Given the description of an element on the screen output the (x, y) to click on. 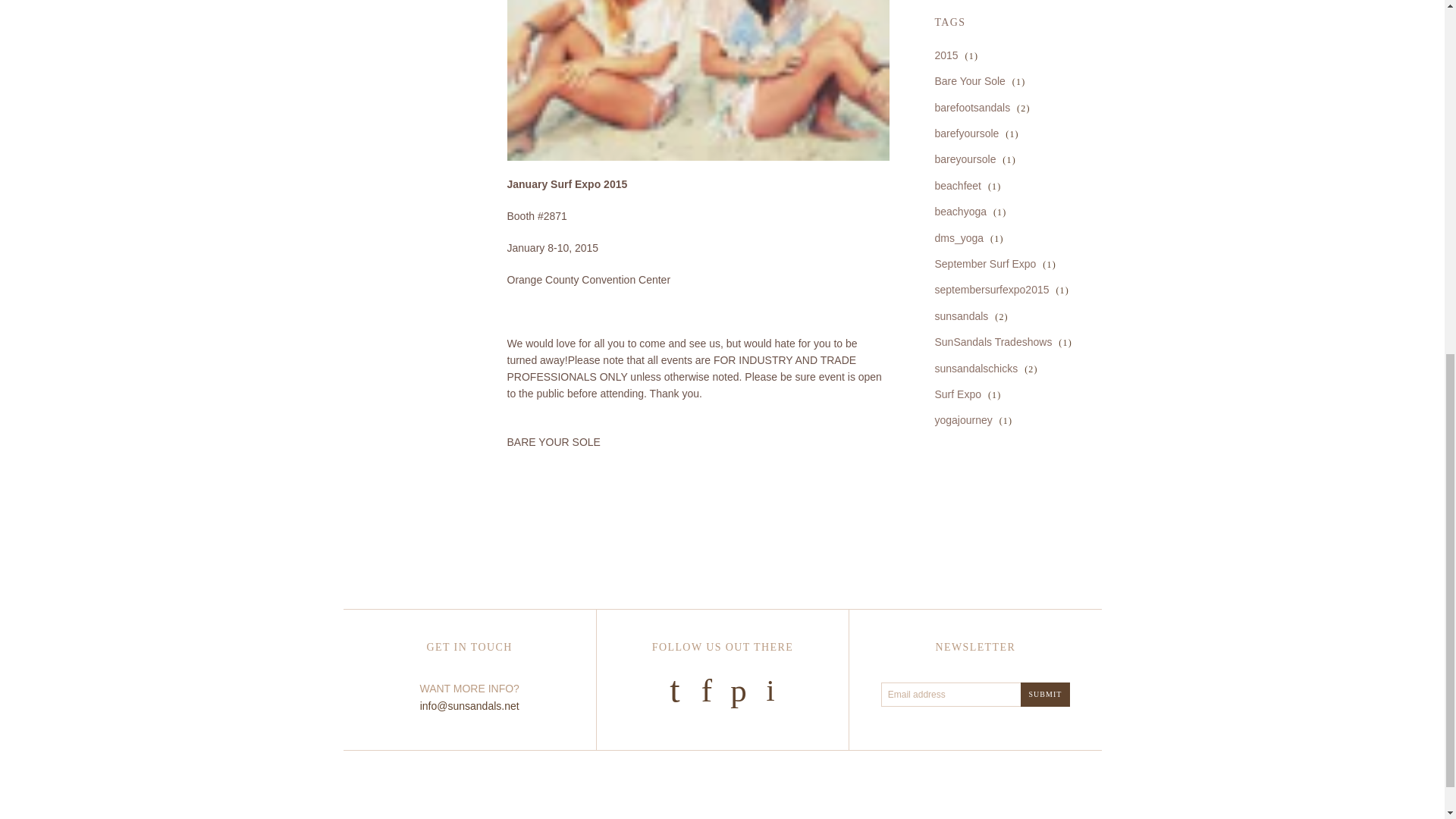
submit (1045, 694)
